Given the description of an element on the screen output the (x, y) to click on. 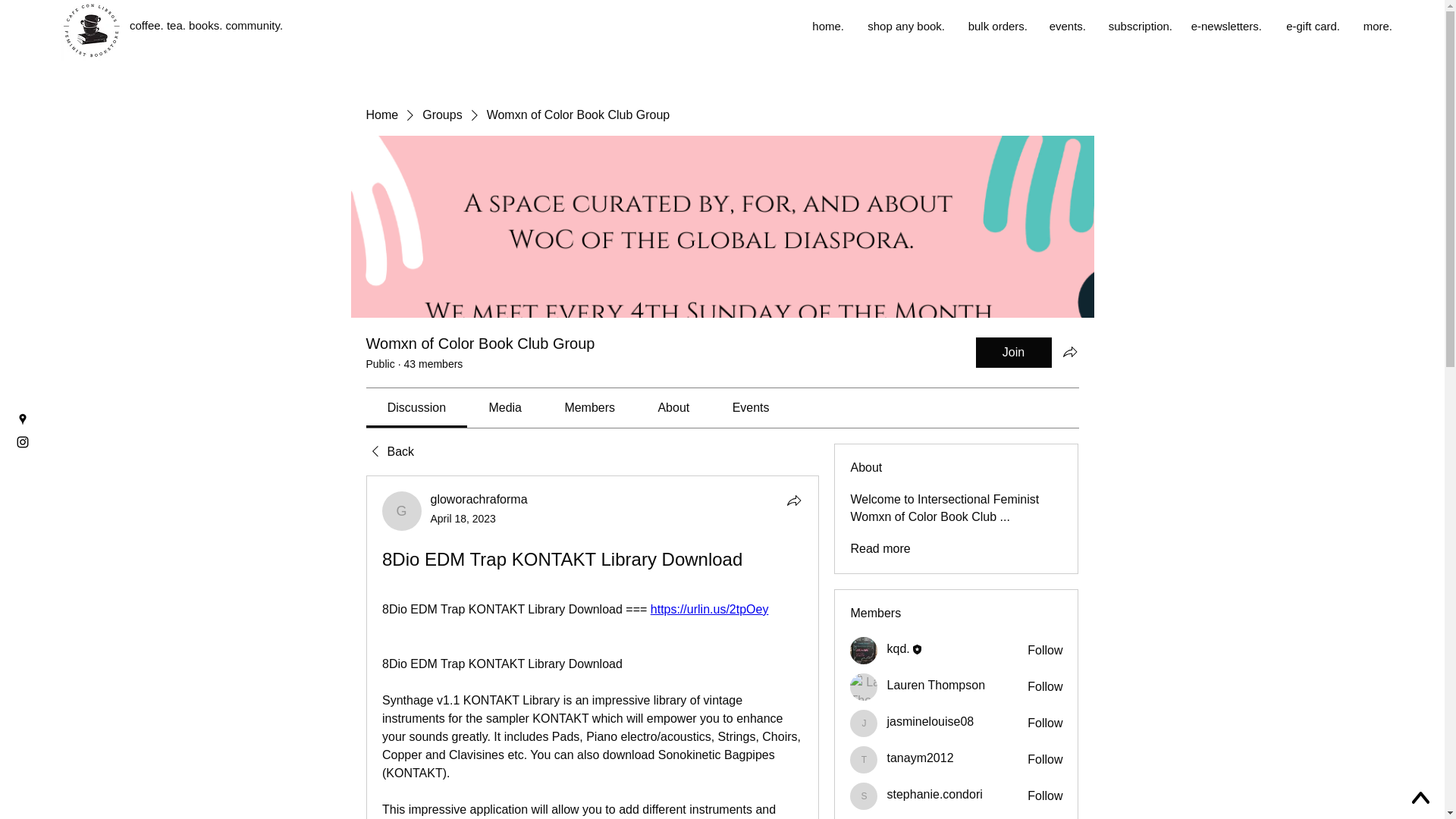
home. (823, 26)
e-newsletters. (1224, 26)
Read more (880, 548)
kqd. (897, 648)
subscription. (1136, 26)
shop any book. (901, 26)
Back (389, 451)
Join (1013, 352)
gloworachraforma (478, 499)
April 18, 2023 (463, 518)
bulk orders. (993, 26)
Lauren Thompson (863, 687)
Home (381, 115)
jasminelouise08 (863, 723)
e-gift card. (1308, 26)
